Given the description of an element on the screen output the (x, y) to click on. 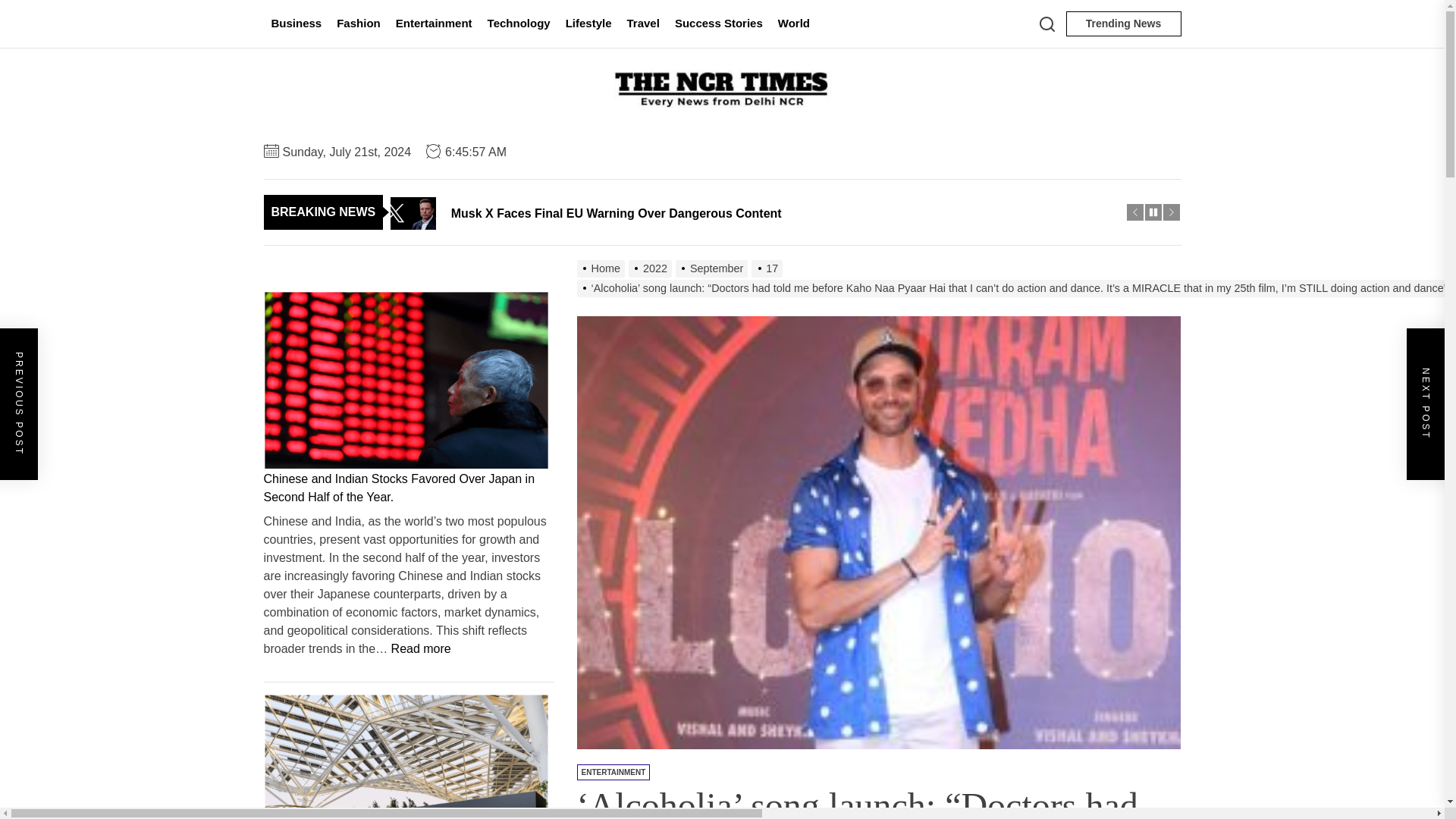
Lifestyle (588, 23)
Travel (642, 23)
Musk X Faces Final EU Warning Over Dangerous Content (758, 212)
Technology (518, 23)
Entertainment (434, 23)
World (793, 23)
Business (296, 23)
Trending News (1122, 23)
Fashion (358, 23)
Success Stories (718, 23)
